Given the description of an element on the screen output the (x, y) to click on. 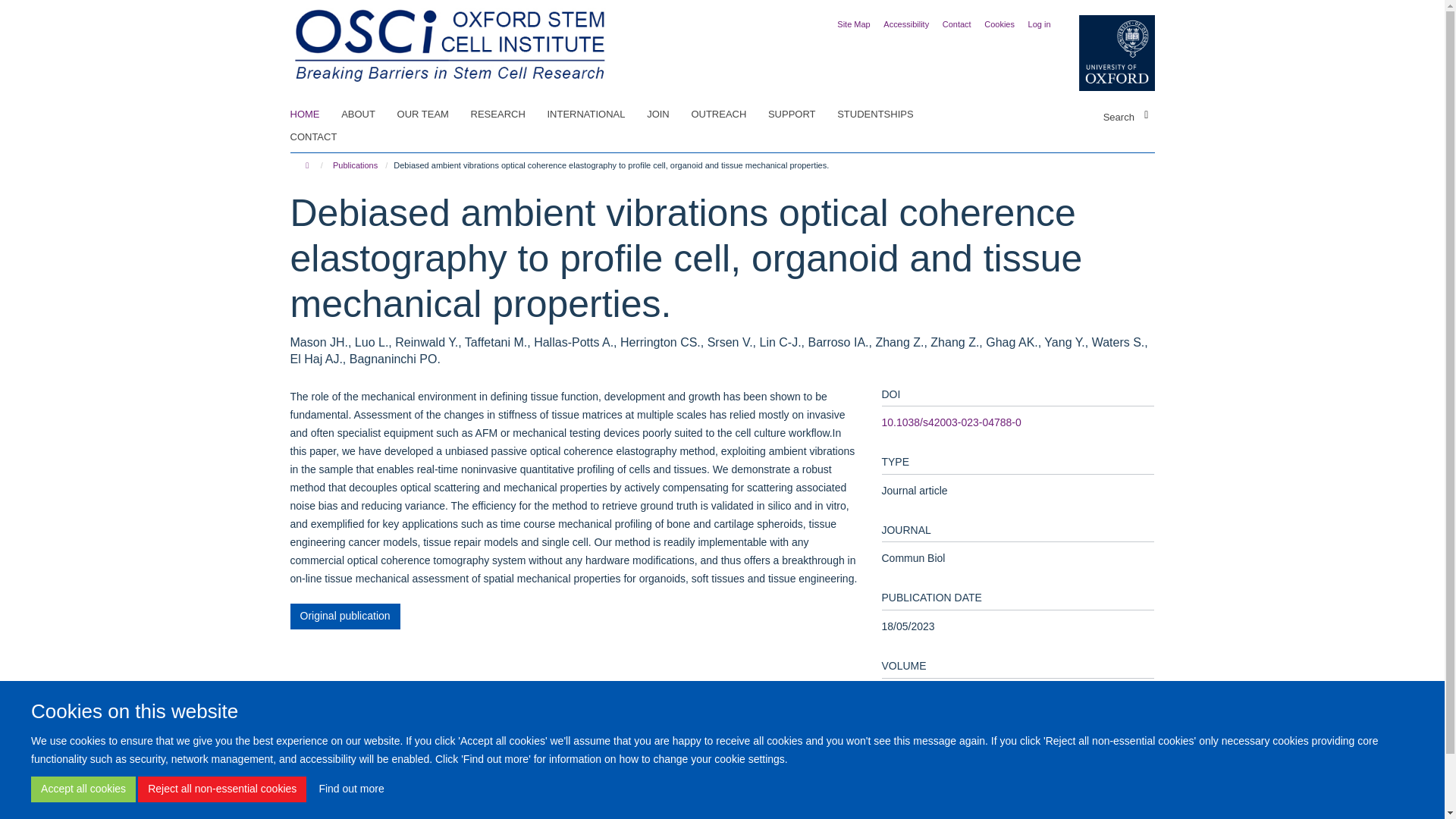
Accept all cookies (82, 789)
Reject all non-essential cookies (221, 789)
